Given the description of an element on the screen output the (x, y) to click on. 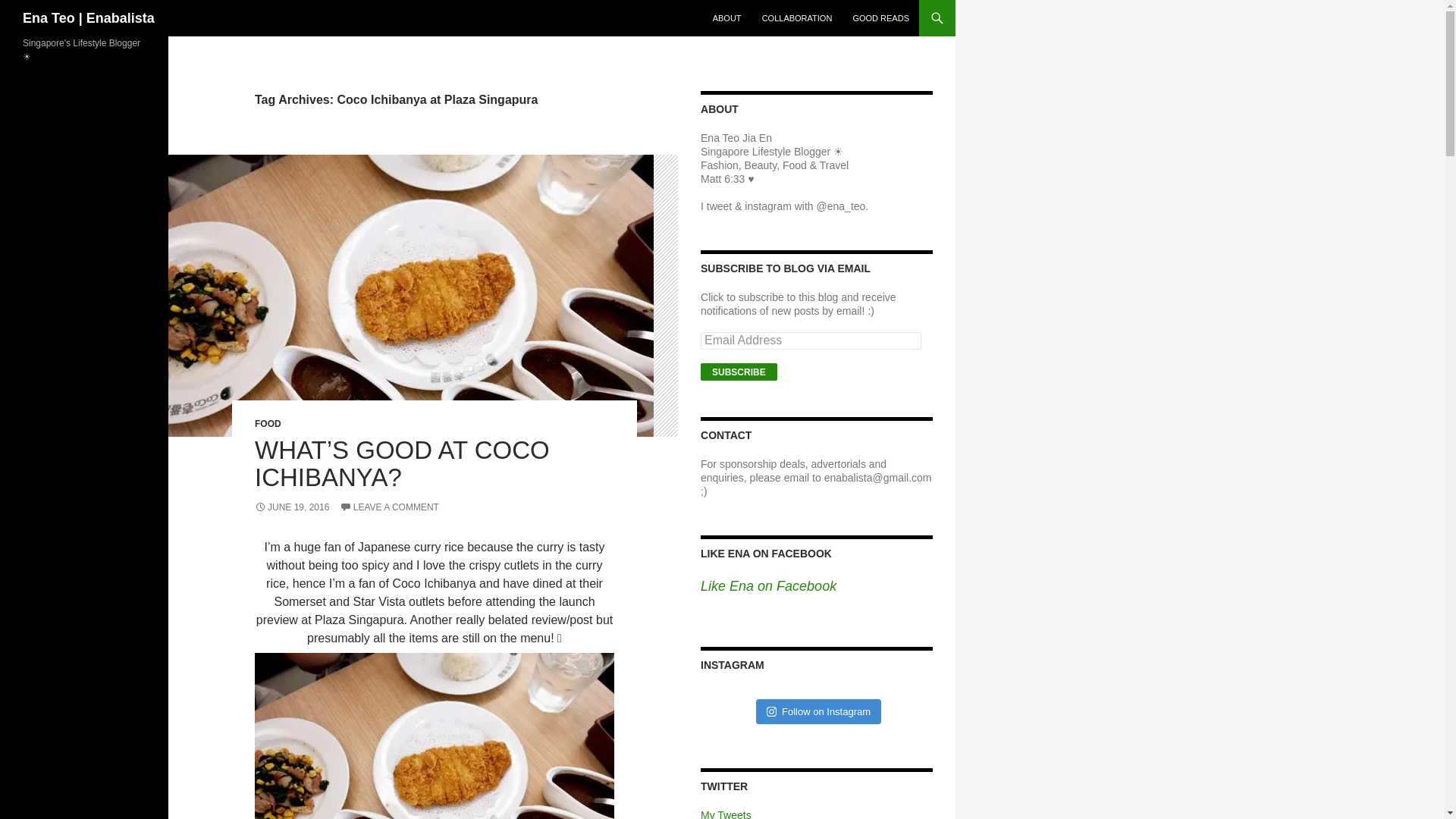
ABOUT (727, 18)
COLLABORATION (796, 18)
LIKE ENA ON FACEBOOK (765, 553)
Like Ena on Facebook (767, 585)
GOOD READS (880, 18)
FOOD (267, 423)
JUNE 19, 2016 (291, 507)
Subscribe (738, 371)
LEAVE A COMMENT (389, 507)
My Tweets (725, 814)
Follow on Instagram (817, 711)
Subscribe (738, 371)
